Given the description of an element on the screen output the (x, y) to click on. 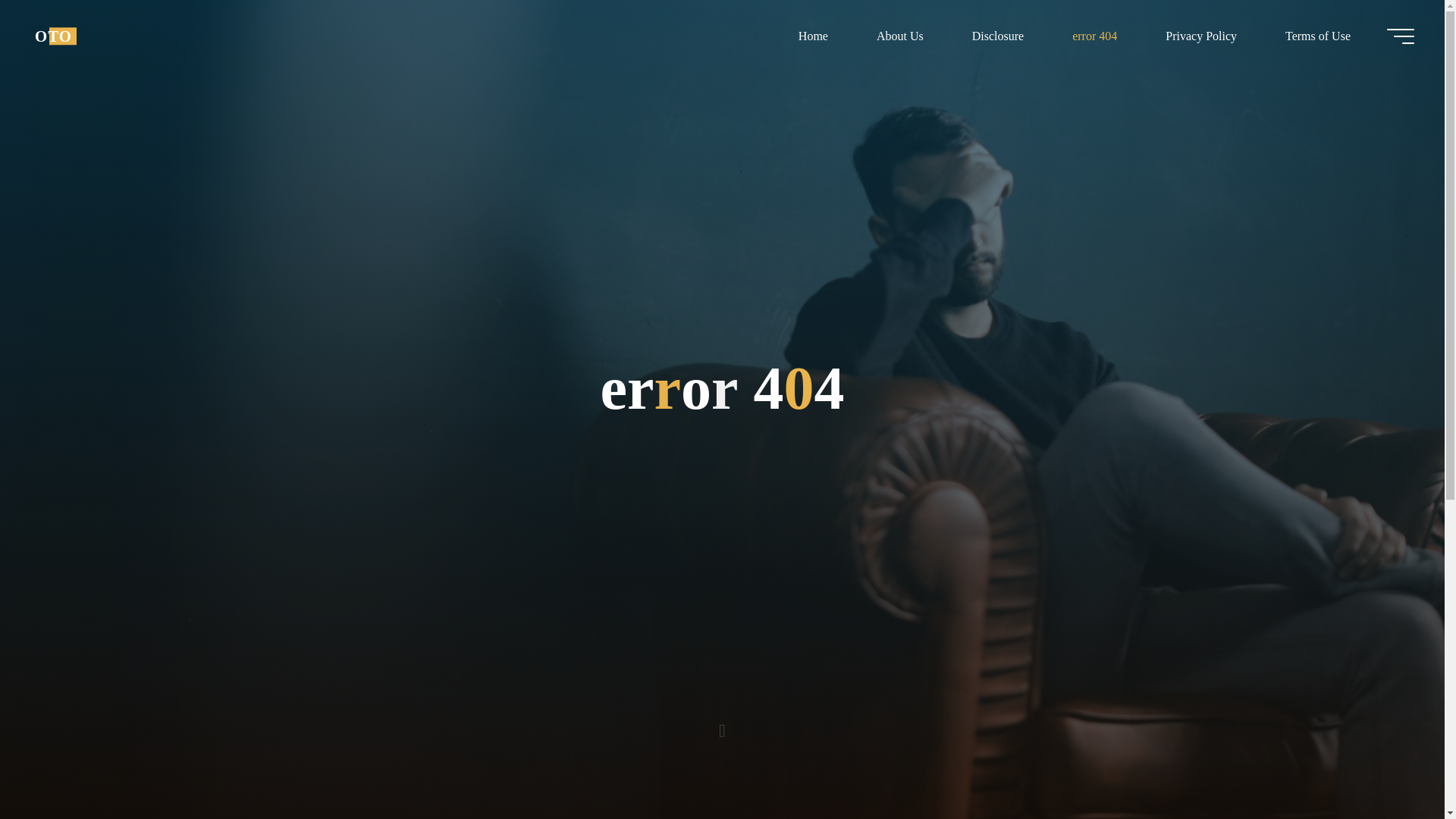
error 404 (1094, 35)
Home (812, 35)
Privacy Policy (1200, 35)
OTO (53, 36)
About Us (899, 35)
Read more (721, 724)
Terms of Use (1317, 35)
Disclosure (997, 35)
